Given the description of an element on the screen output the (x, y) to click on. 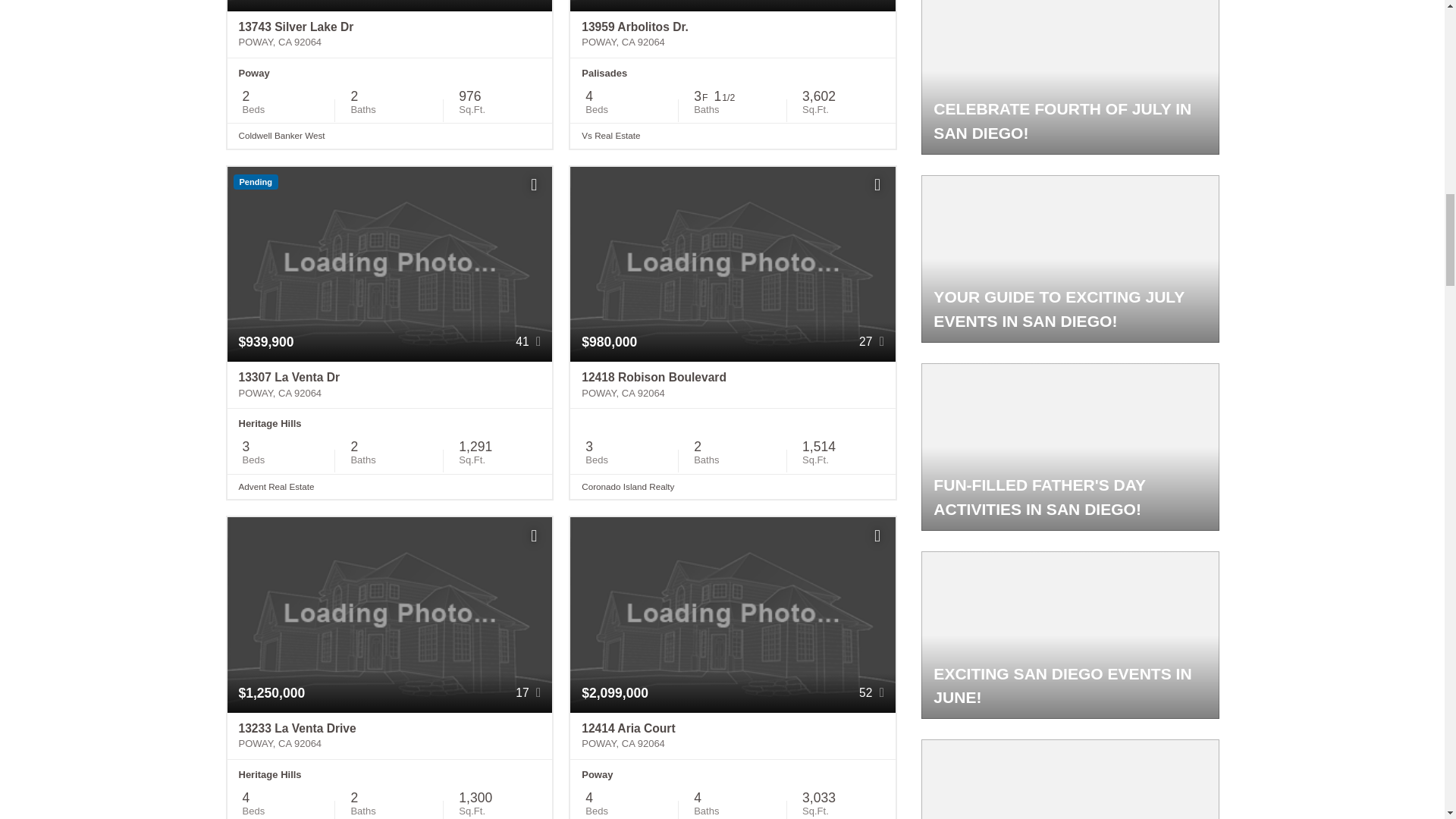
13743 Silver Lake Dr Poway,  CA 92064 (390, 34)
13959 Arbolitos Dr. Poway,  CA 92064 (732, 34)
13307 La Venta Dr Poway,  CA 92064 (390, 384)
